Given the description of an element on the screen output the (x, y) to click on. 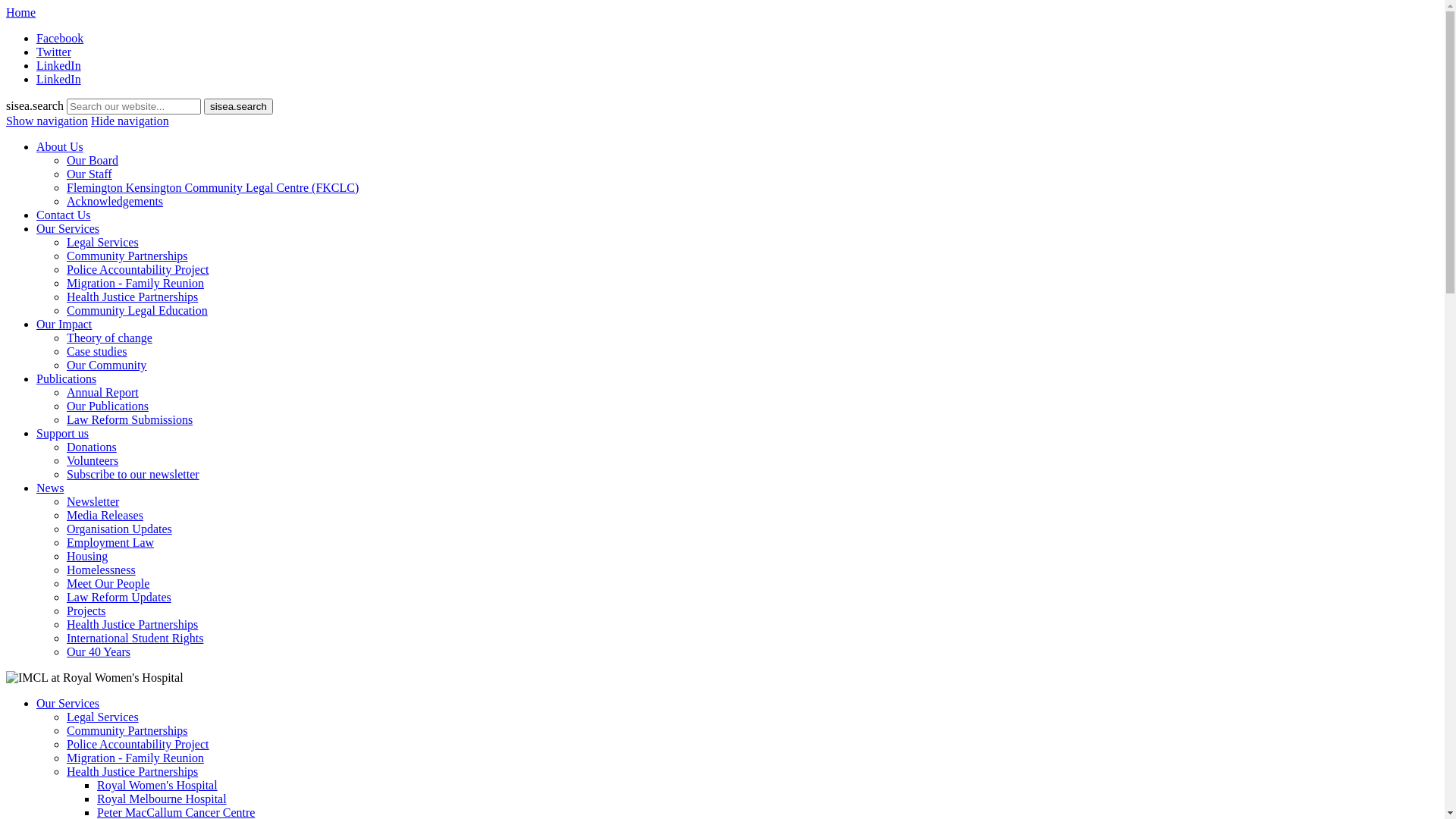
Theory of change Element type: text (109, 337)
International Student Rights Element type: text (134, 637)
Community Partnerships Element type: text (127, 730)
LinkedIn Element type: text (58, 78)
sisea.search Element type: text (238, 106)
Legal Services Element type: text (102, 241)
Legal Services Element type: text (102, 716)
Show navigation Element type: text (46, 120)
Migration - Family Reunion Element type: text (134, 282)
Home Element type: text (20, 12)
Health Justice Partnerships Element type: text (131, 624)
Contact Us Element type: text (63, 214)
Media Releases Element type: text (104, 514)
About Us Element type: text (59, 146)
Housing Element type: text (86, 555)
Hide navigation Element type: text (130, 120)
Royal Women's Hospital Element type: text (157, 784)
Annual Report Element type: text (102, 391)
Homelessness Element type: text (100, 569)
Flemington Kensington Community Legal Centre (FKCLC) Element type: text (212, 187)
Our Staff Element type: text (89, 173)
Our Impact Element type: text (63, 323)
Law Reform Submissions Element type: text (129, 419)
Twitter Element type: text (53, 51)
Donations Element type: text (91, 446)
Our 40 Years Element type: text (98, 651)
Newsletter Element type: text (92, 501)
Law Reform Updates Element type: text (118, 596)
Publications Element type: text (66, 378)
Our Services Element type: text (67, 228)
Royal Melbourne Hospital Element type: text (161, 798)
Our Board Element type: text (92, 159)
Facebook Element type: text (59, 37)
LinkedIn Element type: text (58, 65)
Community Legal Education Element type: text (136, 310)
Our Community Element type: text (106, 364)
Community Partnerships Element type: text (127, 255)
Case studies Element type: text (96, 351)
Our Publications Element type: text (107, 405)
Migration - Family Reunion Element type: text (134, 757)
Volunteers Element type: text (92, 460)
Support us Element type: text (62, 432)
Acknowledgements Element type: text (114, 200)
News Element type: text (49, 487)
Police Accountability Project Element type: text (137, 743)
Health Justice Partnerships Element type: text (131, 296)
Subscribe to our newsletter Element type: text (132, 473)
Meet Our People Element type: text (107, 583)
Health Justice Partnerships Element type: text (131, 771)
Our Services Element type: text (67, 702)
Employment Law Element type: text (109, 542)
Organisation Updates Element type: text (119, 528)
Projects Element type: text (86, 610)
Police Accountability Project Element type: text (137, 269)
